Given the description of an element on the screen output the (x, y) to click on. 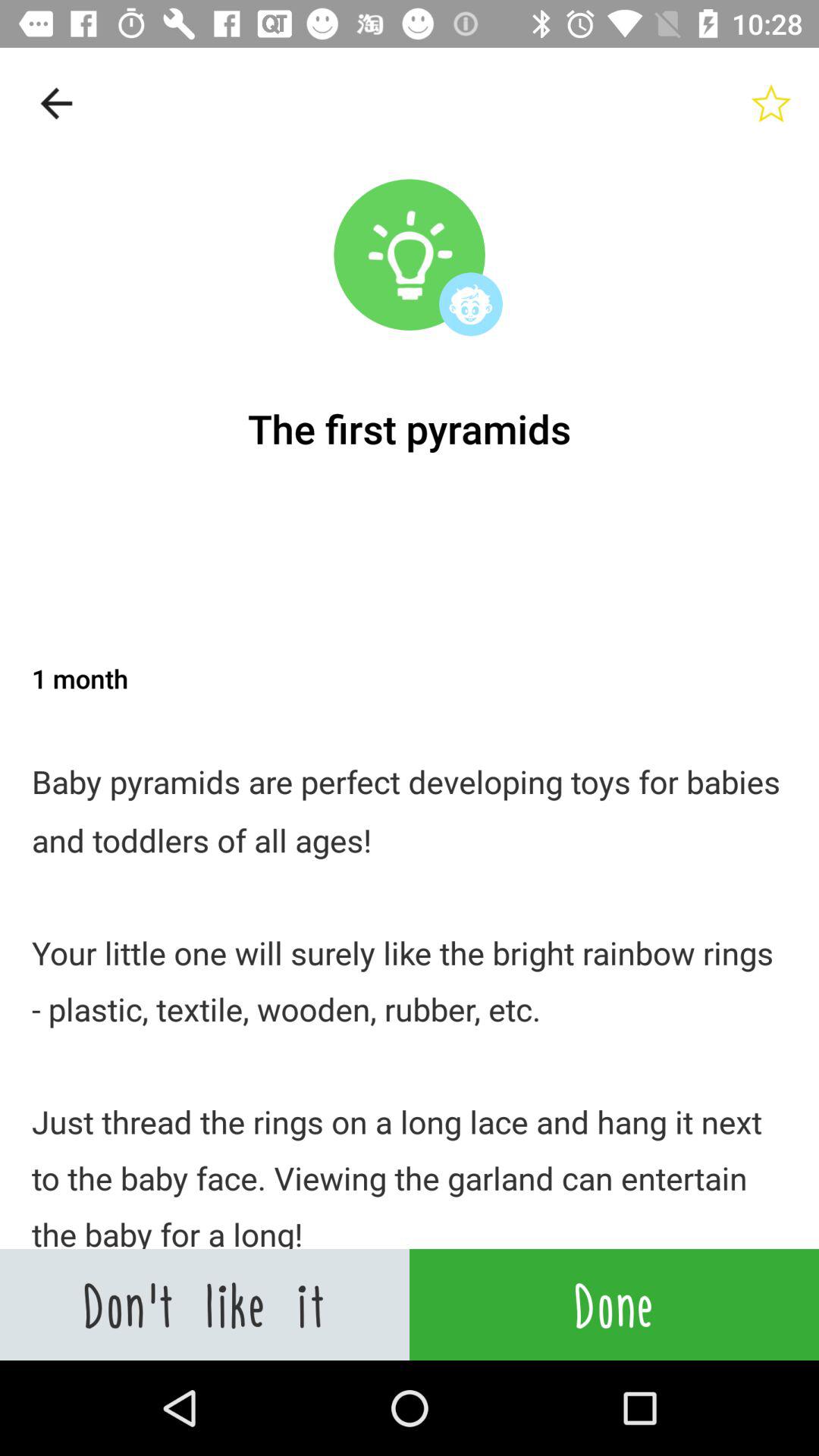
choose item next to don t like (614, 1304)
